Given the description of an element on the screen output the (x, y) to click on. 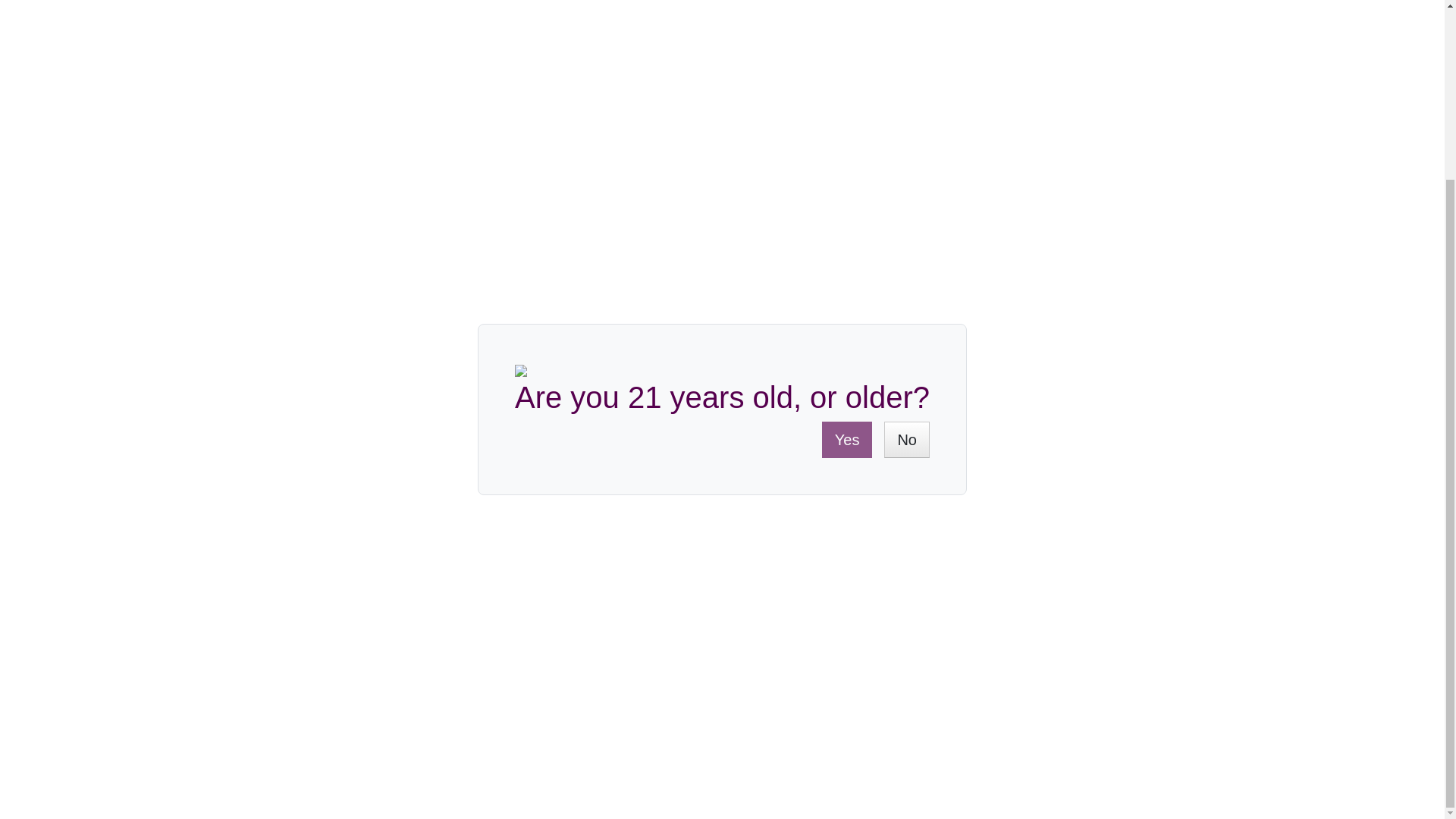
LOCAL DELIVERY (468, 569)
California (359, 336)
Cabernet Sauvignon (389, 305)
SHIPPING INFO (304, 569)
Add to Cart (903, 130)
Carneros (487, 336)
Buena Vista Winery (387, 367)
INSTORE PICKUP (639, 569)
Napa Valley (423, 336)
Red Wine (360, 274)
SIGNUP (1040, 508)
